Given the description of an element on the screen output the (x, y) to click on. 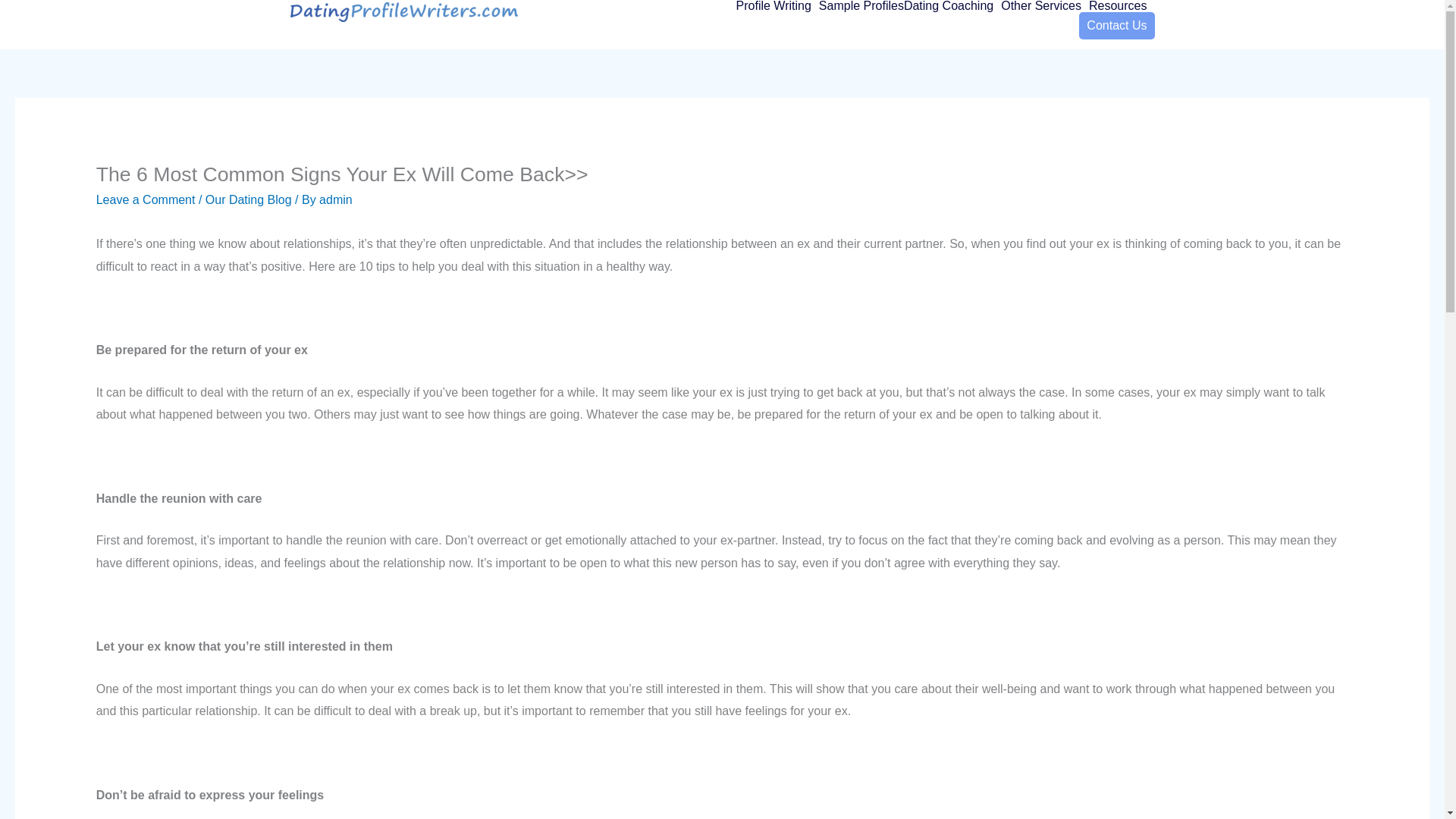
Other Services (1045, 6)
Dating Coaching (952, 6)
View all posts by admin (335, 199)
Profile Writing (777, 6)
Resources (1121, 6)
Sample Profiles (861, 6)
